Given the description of an element on the screen output the (x, y) to click on. 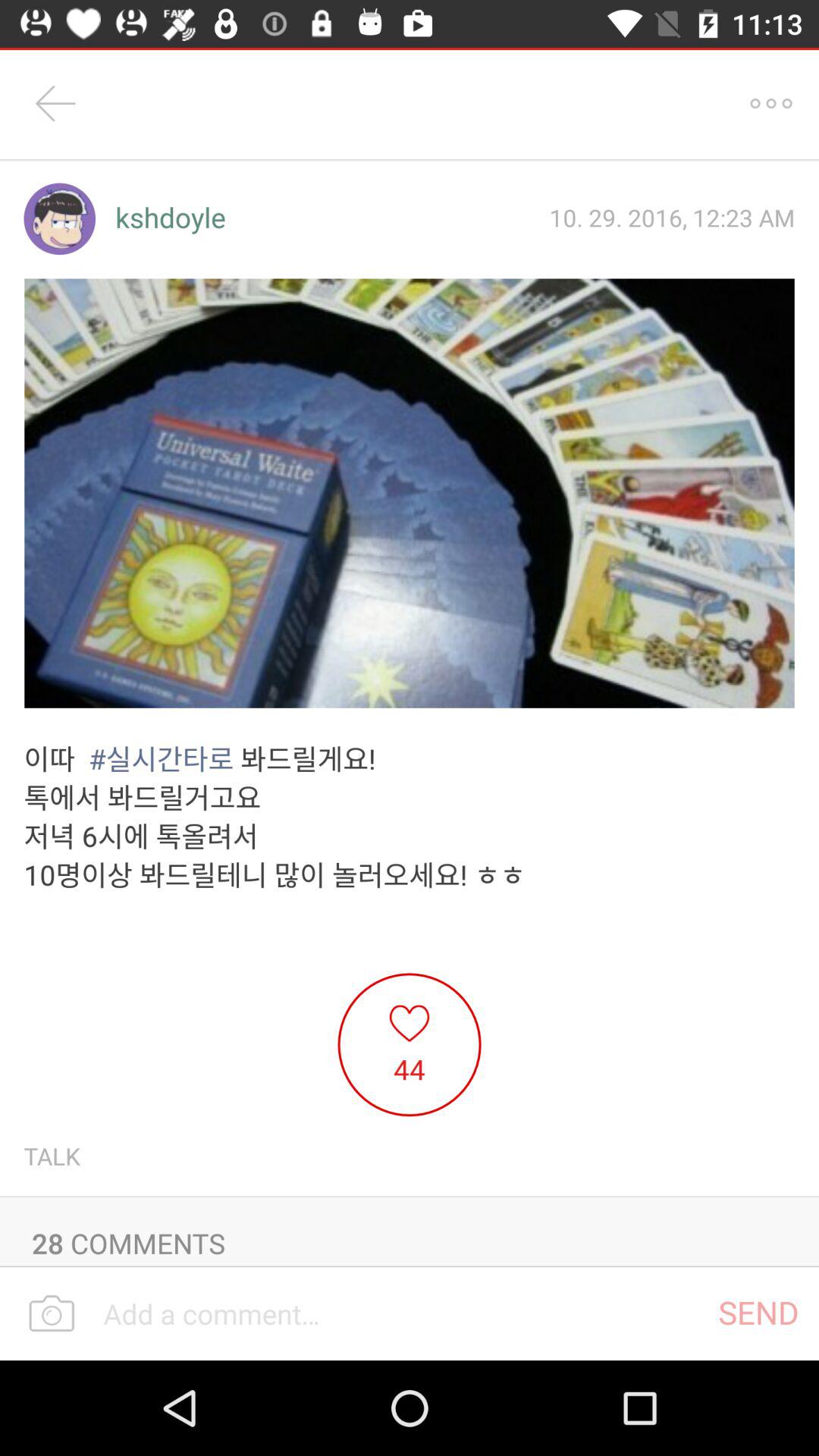
press icon at the bottom right corner (758, 1311)
